Given the description of an element on the screen output the (x, y) to click on. 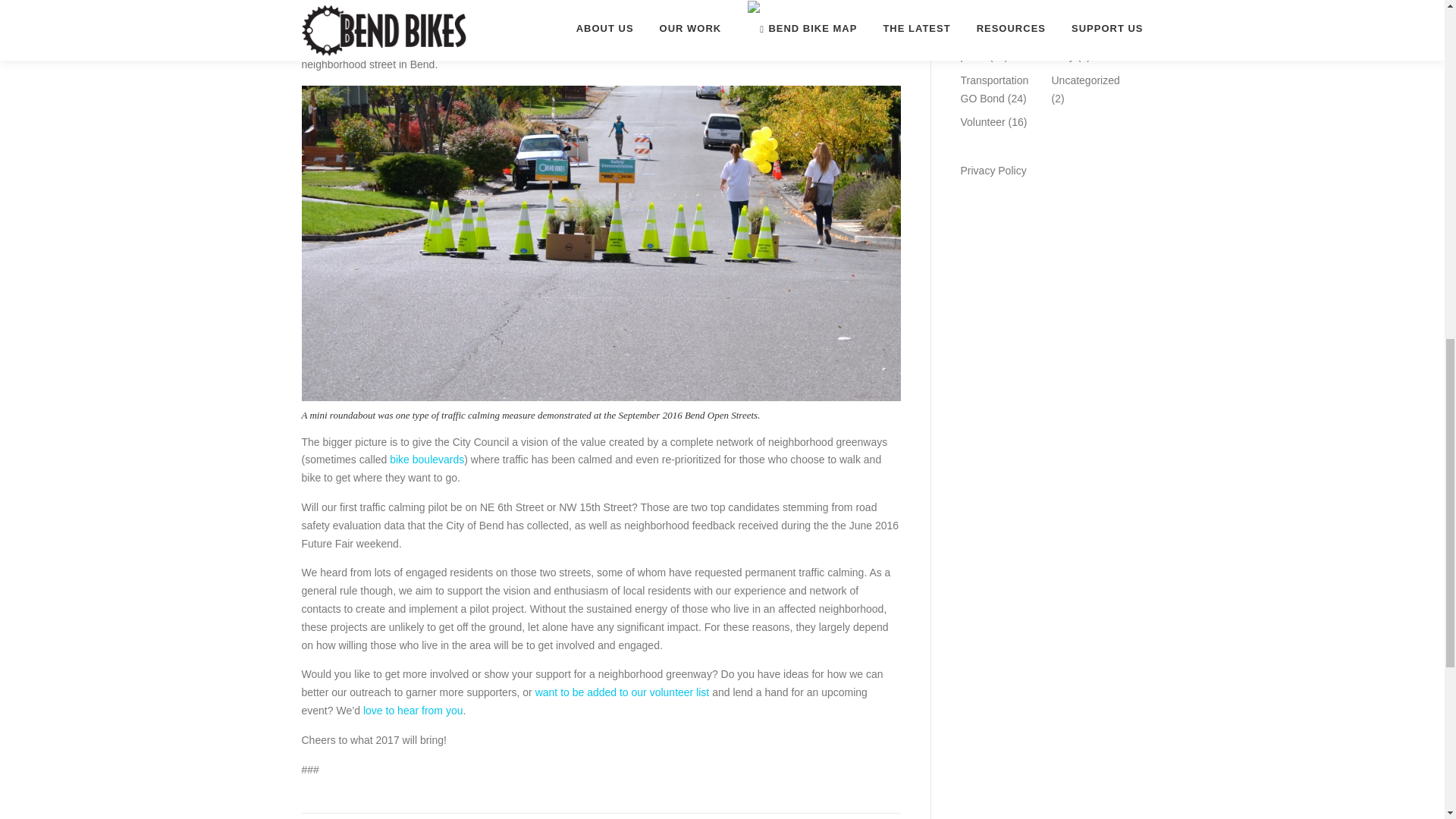
bike boulevards (427, 459)
demonstrated during Bend Open Streets (709, 46)
want to be added to our volunteer list (622, 692)
love to hear from you (412, 710)
